Given the description of an element on the screen output the (x, y) to click on. 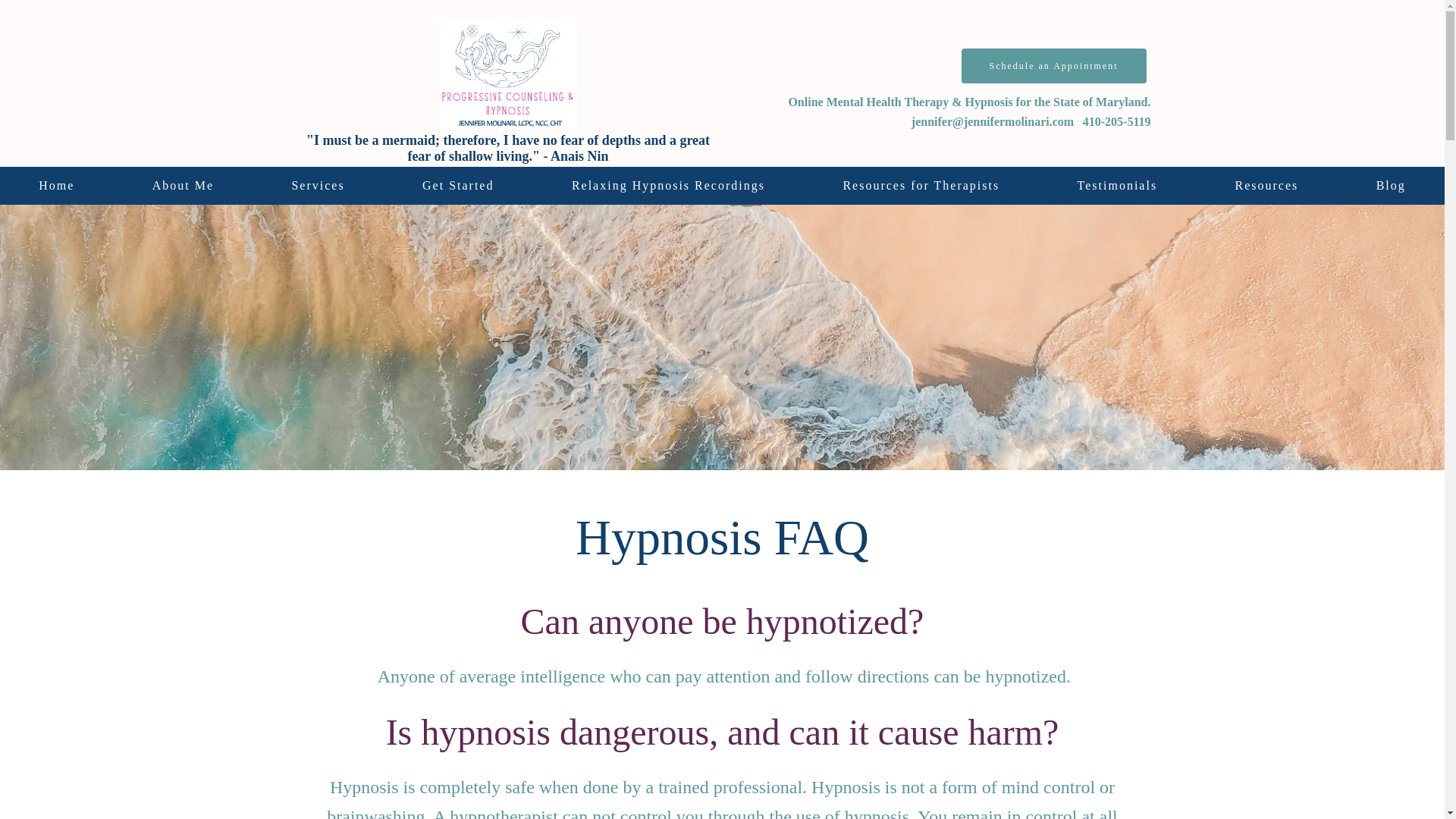
Schedule an Appointment (1053, 65)
Services (317, 185)
Resources (1265, 185)
Resources for Therapists (920, 185)
Get Started (458, 185)
About Me (183, 185)
Home (56, 185)
Relaxing Hypnosis Recordings (668, 185)
410-205-5119 (1117, 121)
Testimonials (1116, 185)
